Given the description of an element on the screen output the (x, y) to click on. 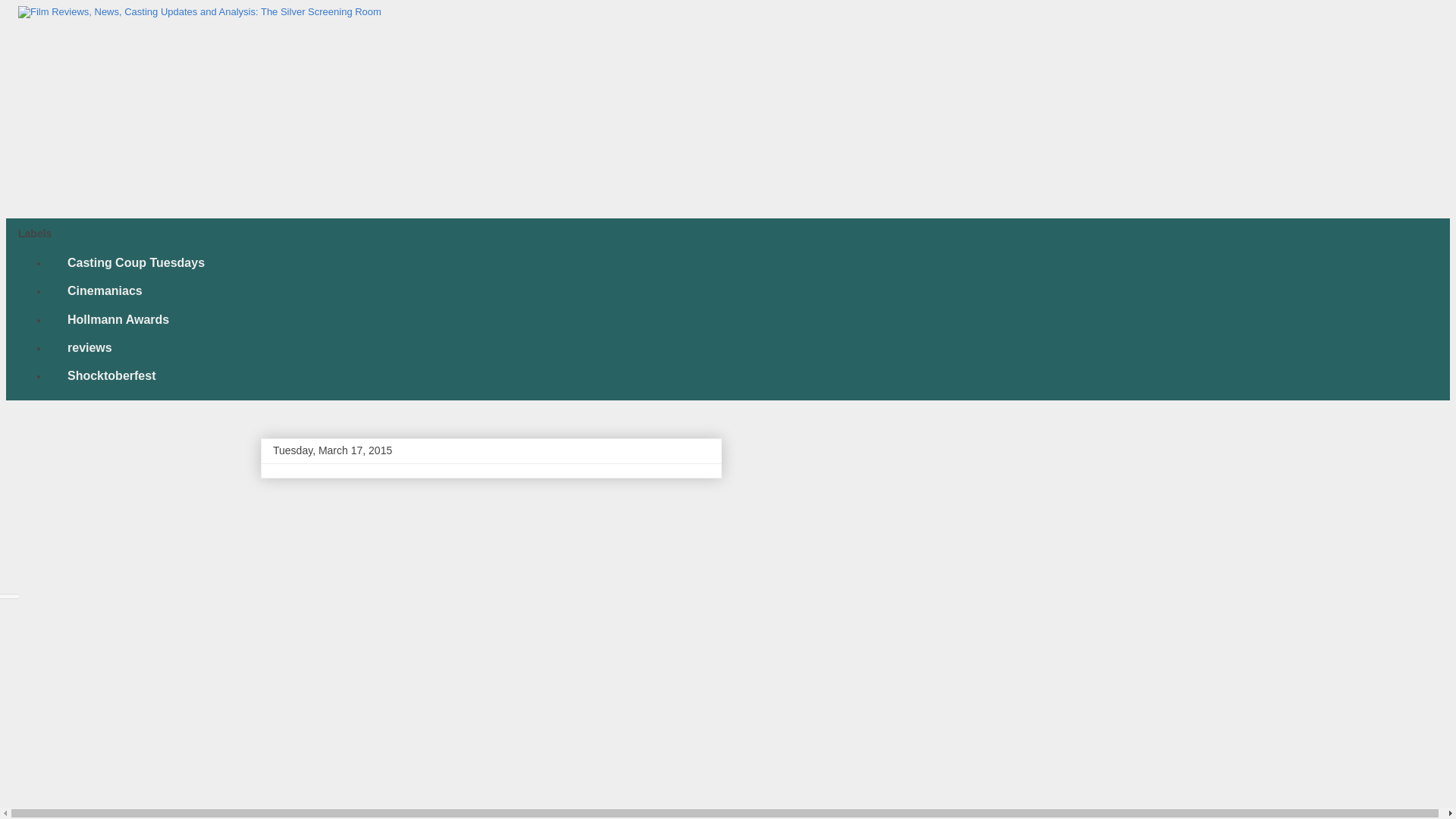
Casting Coup Tuesdays (135, 263)
Cinemaniacs (104, 291)
Hollmann Awards (117, 319)
Shocktoberfest (111, 375)
reviews (89, 347)
